Given the description of an element on the screen output the (x, y) to click on. 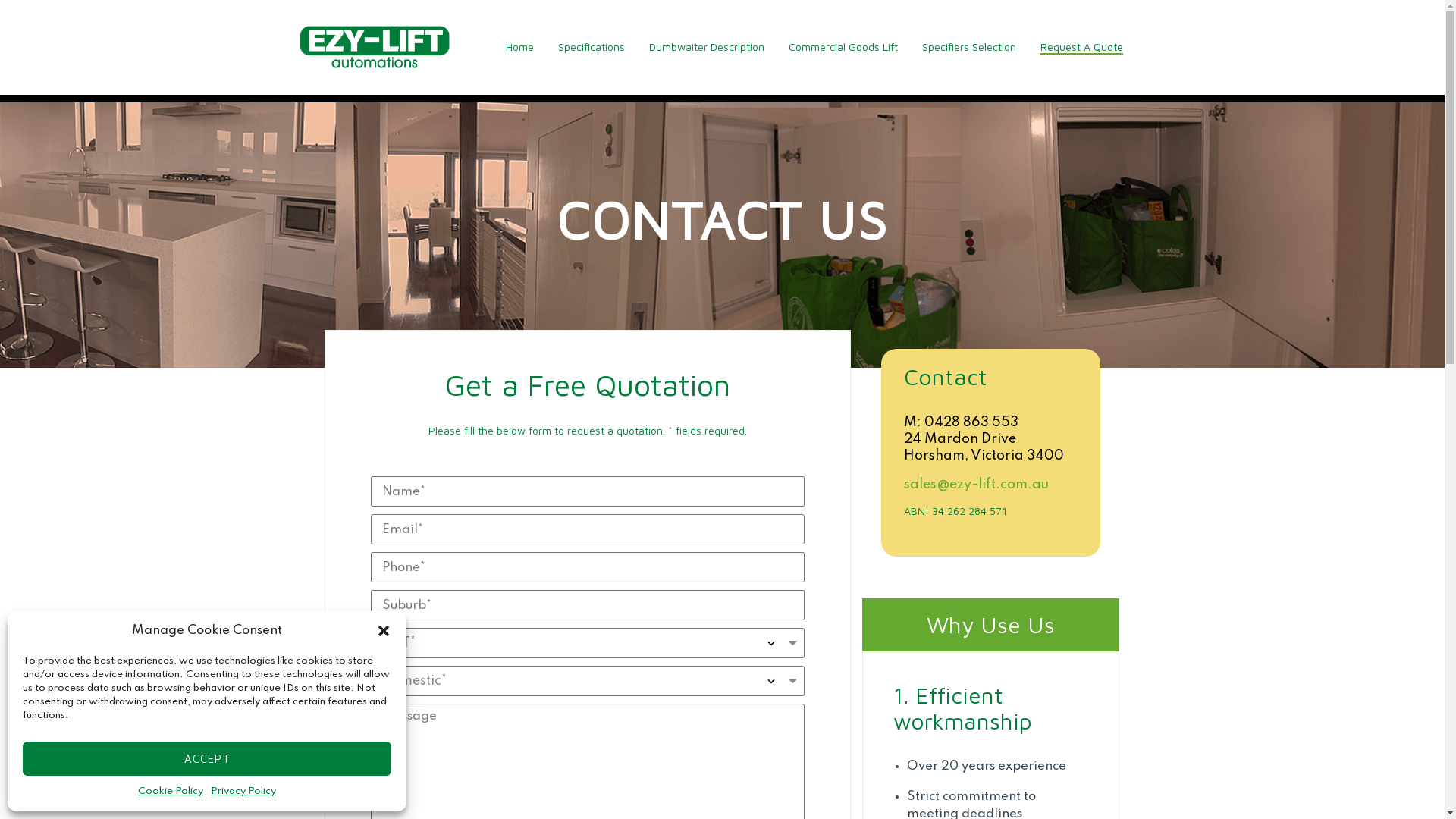
Cookie Policy Element type: text (170, 791)
Request A Quote Element type: text (1081, 46)
Commercial Goods Lift Element type: text (842, 46)
Specifications Element type: text (591, 46)
Specifiers Selection Element type: text (969, 46)
sales@ezy-lift.com.au Element type: text (975, 484)
Dumbwaiter Description Element type: text (706, 46)
ACCEPT Element type: text (206, 758)
Privacy Policy Element type: text (243, 791)
Home Element type: text (519, 46)
